Given the description of an element on the screen output the (x, y) to click on. 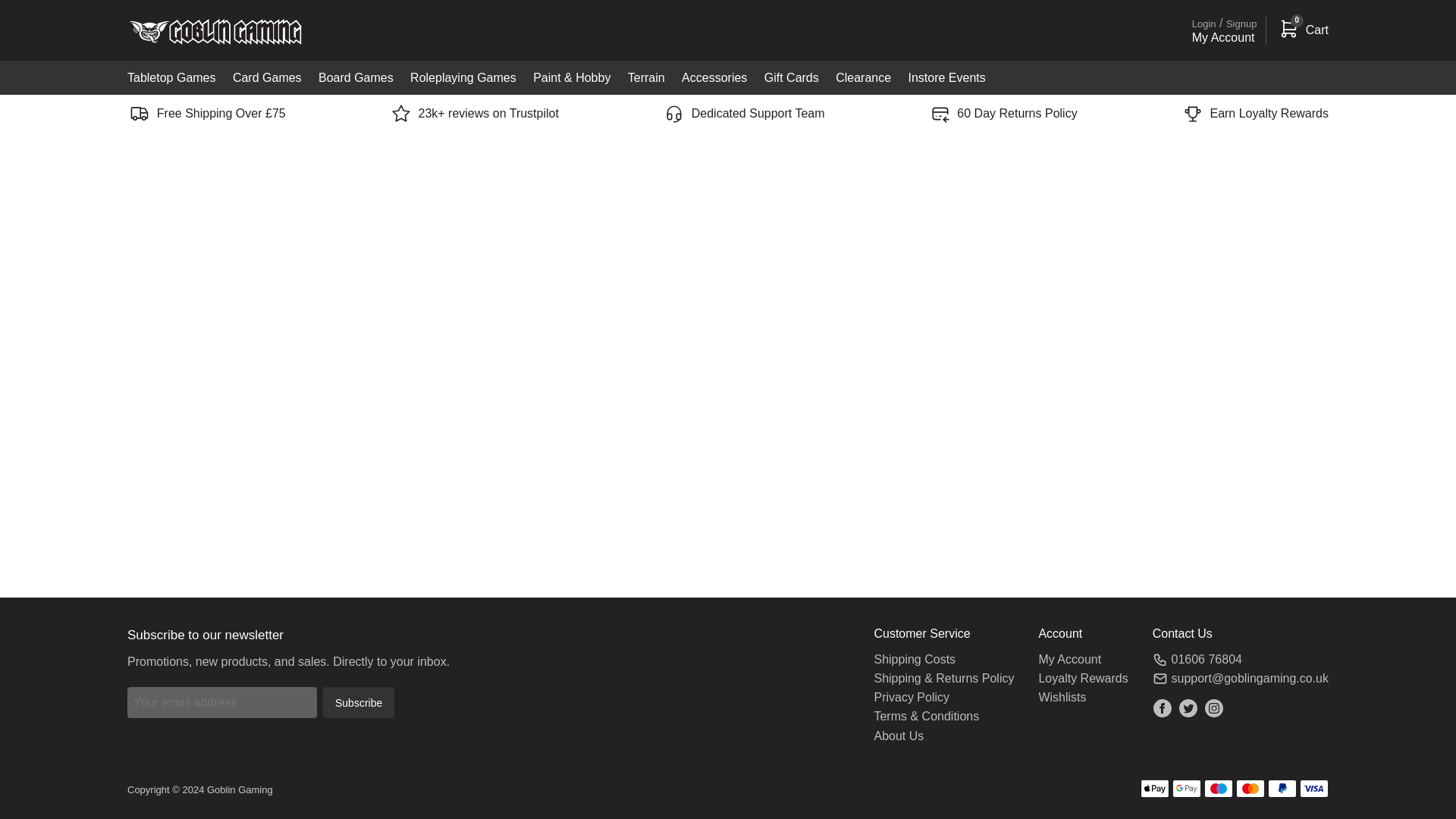
Maestro (1218, 788)
Google Pay (1186, 788)
Apple Pay (1154, 788)
Mastercard (1250, 788)
PayPal (1282, 788)
Visa (1313, 788)
